Given the description of an element on the screen output the (x, y) to click on. 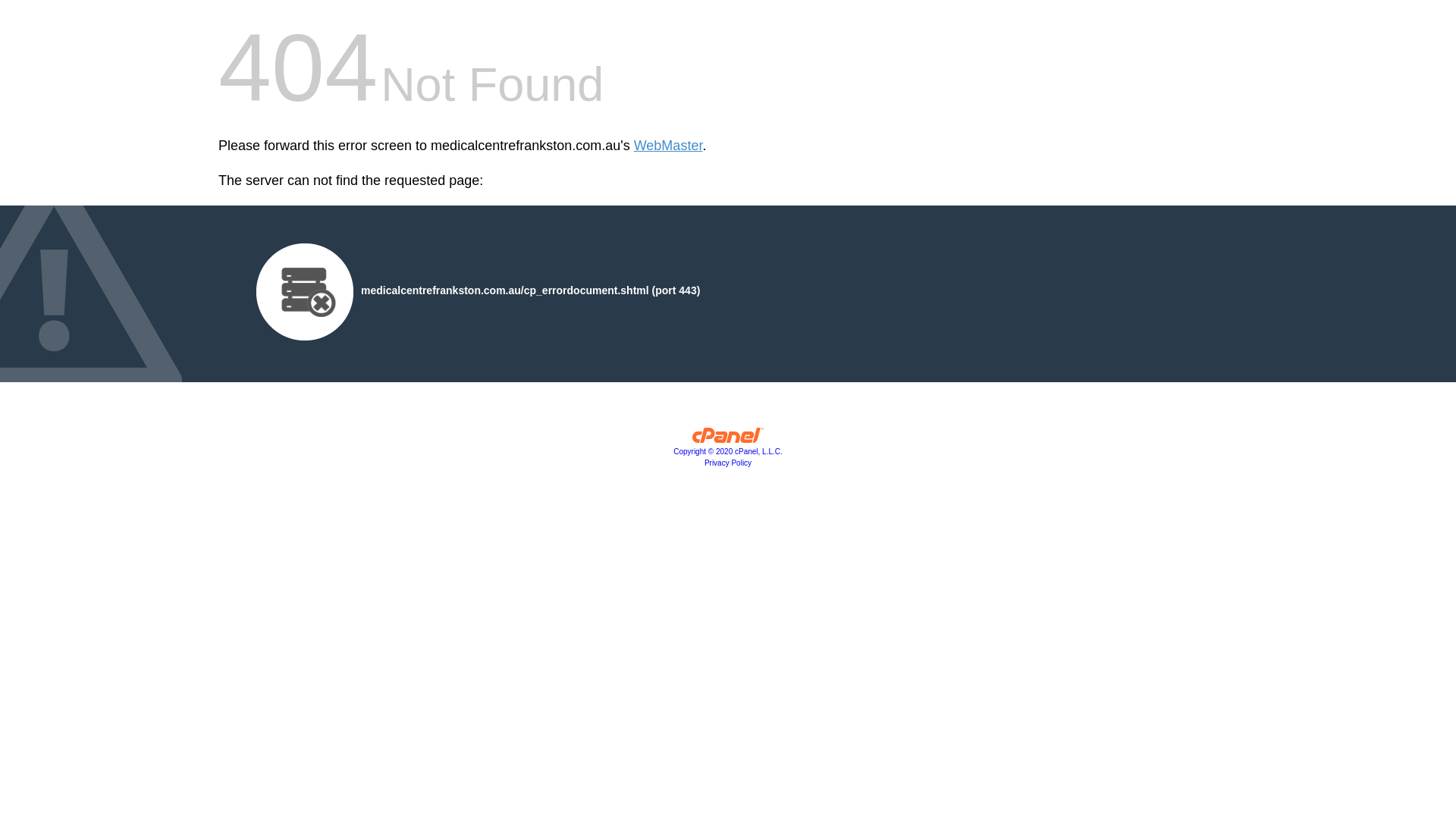
Privacy Policy Element type: text (727, 462)
WebMaster Element type: text (667, 145)
cPanel, Inc. Element type: hover (728, 439)
